Given the description of an element on the screen output the (x, y) to click on. 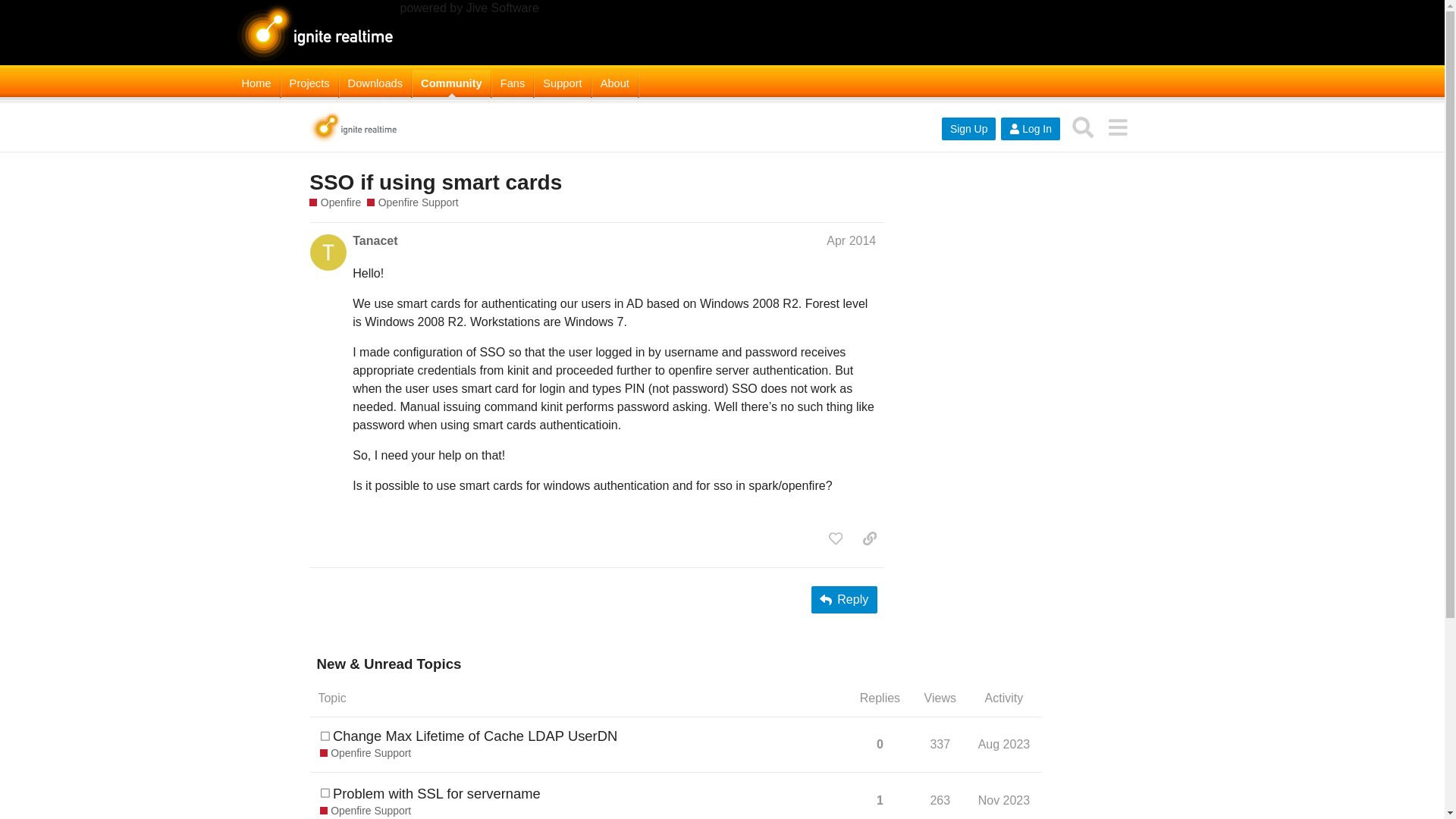
Openfire Support (412, 202)
Openfire Support (366, 811)
SSO if using smart cards (435, 182)
Sign Up (968, 128)
Home (255, 83)
Openfire Support (366, 753)
Change Max Lifetime of Cache LDAP UserDN (475, 735)
Downloads (375, 83)
This topic has no solution (325, 792)
Aug 2023 (1003, 744)
